Given the description of an element on the screen output the (x, y) to click on. 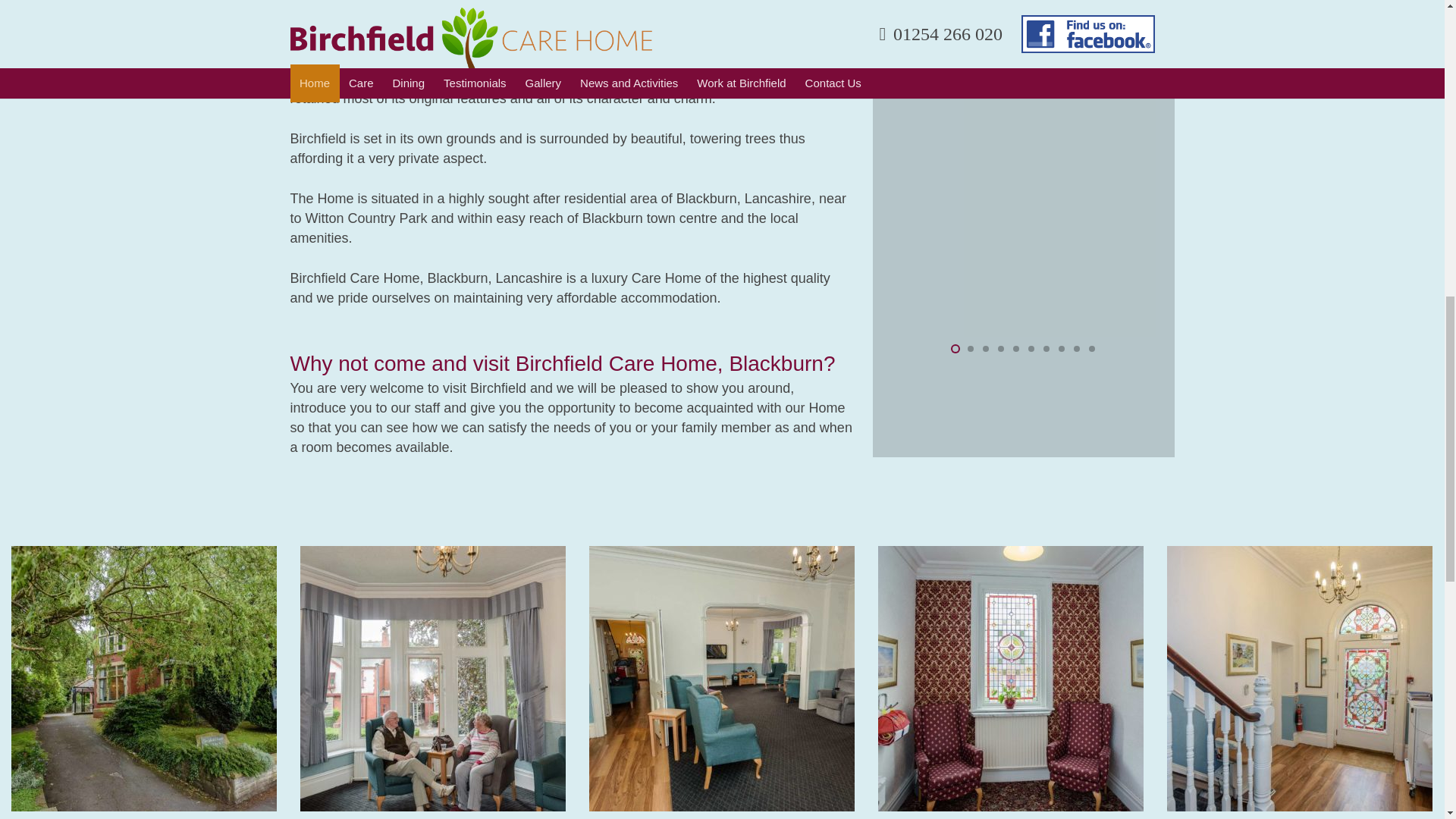
Back to top (1413, 37)
